Given the description of an element on the screen output the (x, y) to click on. 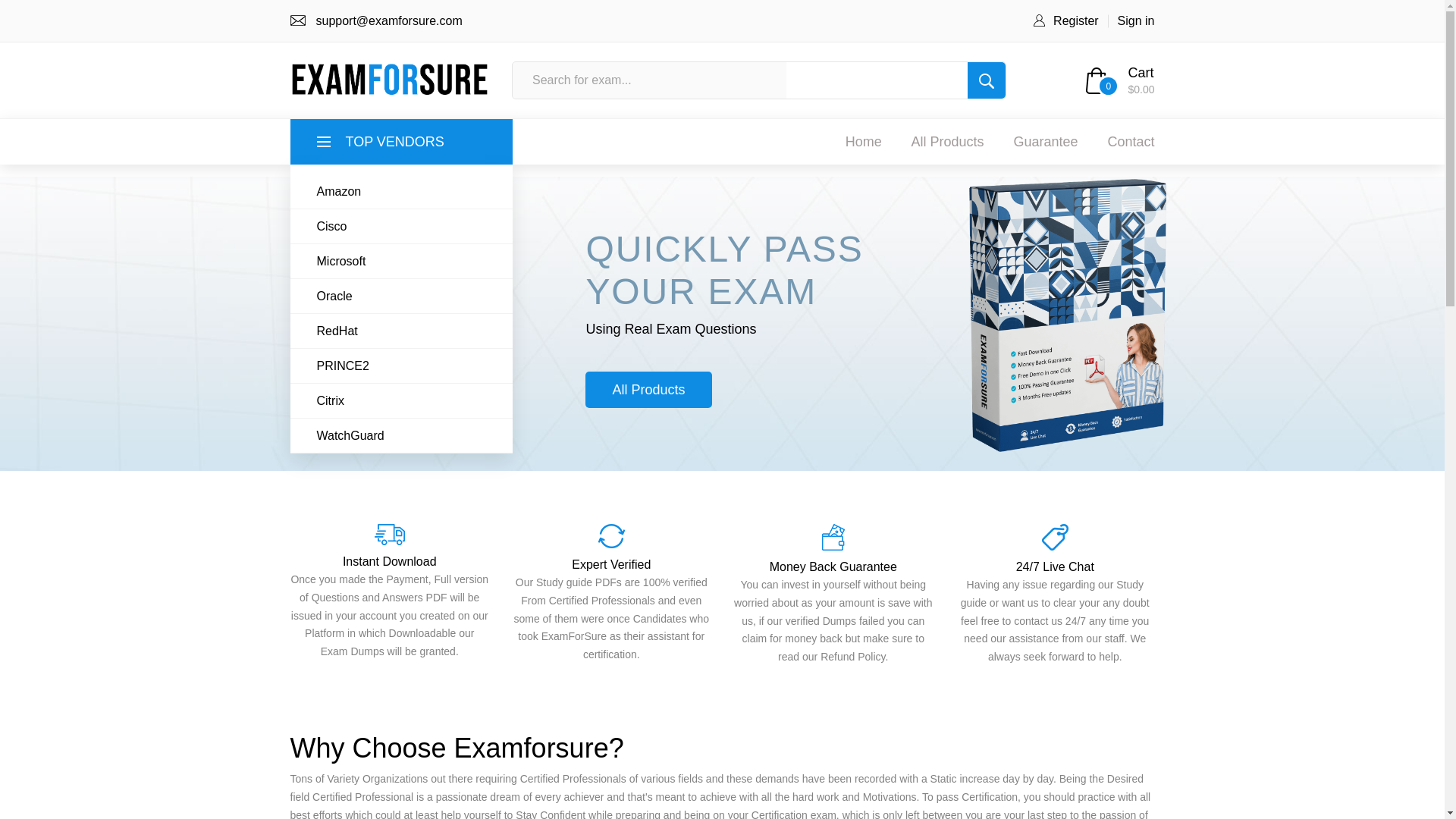
All Products (648, 389)
Cisco (403, 226)
Amazon (403, 191)
Microsoft (403, 261)
Citrix (403, 401)
All Products (947, 141)
PRINCE2 (403, 366)
WatchGuard (403, 435)
RedHat (403, 330)
Sign in (1136, 20)
